Given the description of an element on the screen output the (x, y) to click on. 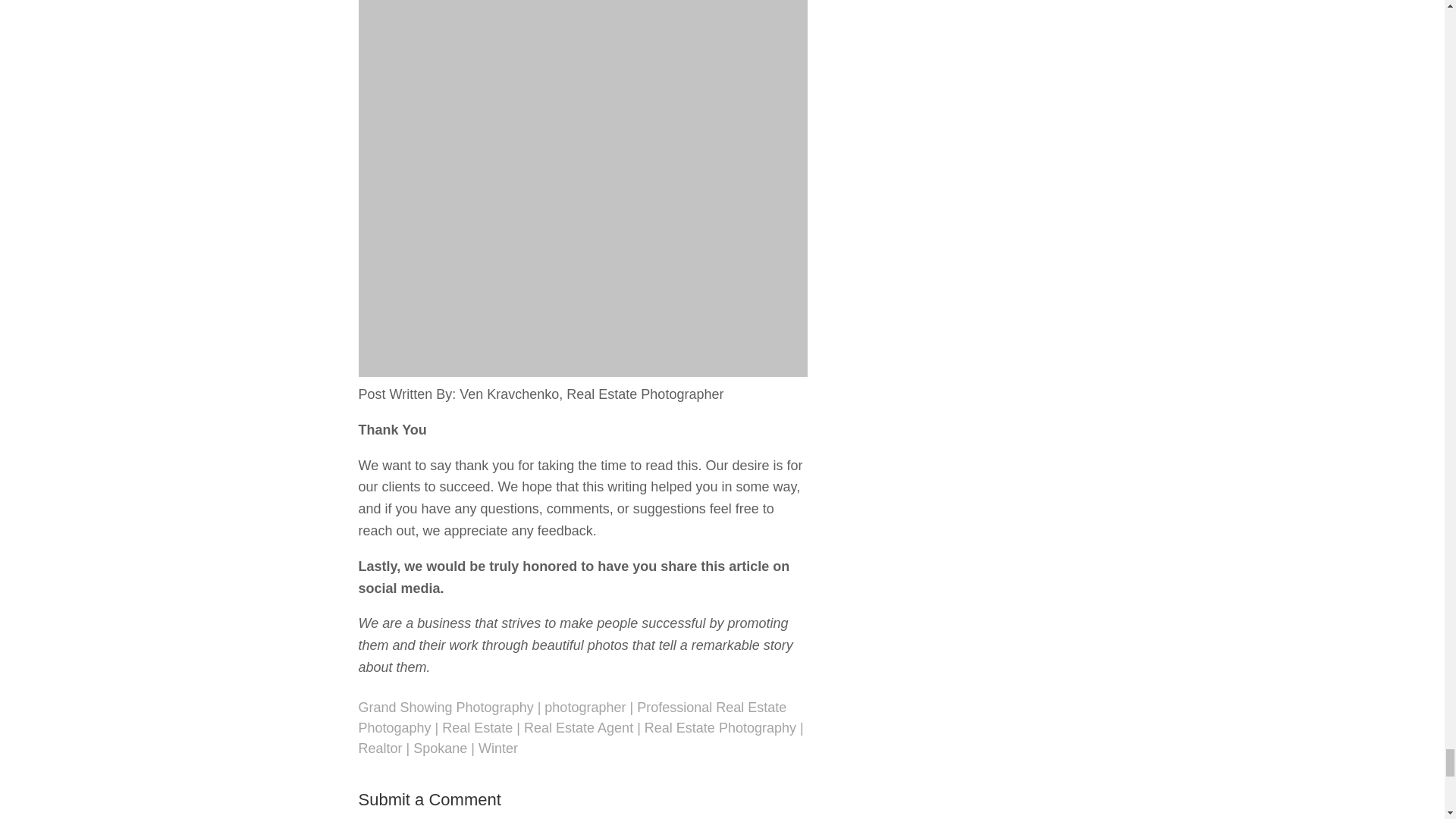
photographer (585, 707)
Grand Showing Photography (445, 707)
Real Estate Photography (720, 727)
Winter (498, 748)
Spokane (440, 748)
Professional Real Estate Photogaphy (572, 717)
Real Estate Agent (578, 727)
Realtor (379, 748)
Real Estate (477, 727)
